Given the description of an element on the screen output the (x, y) to click on. 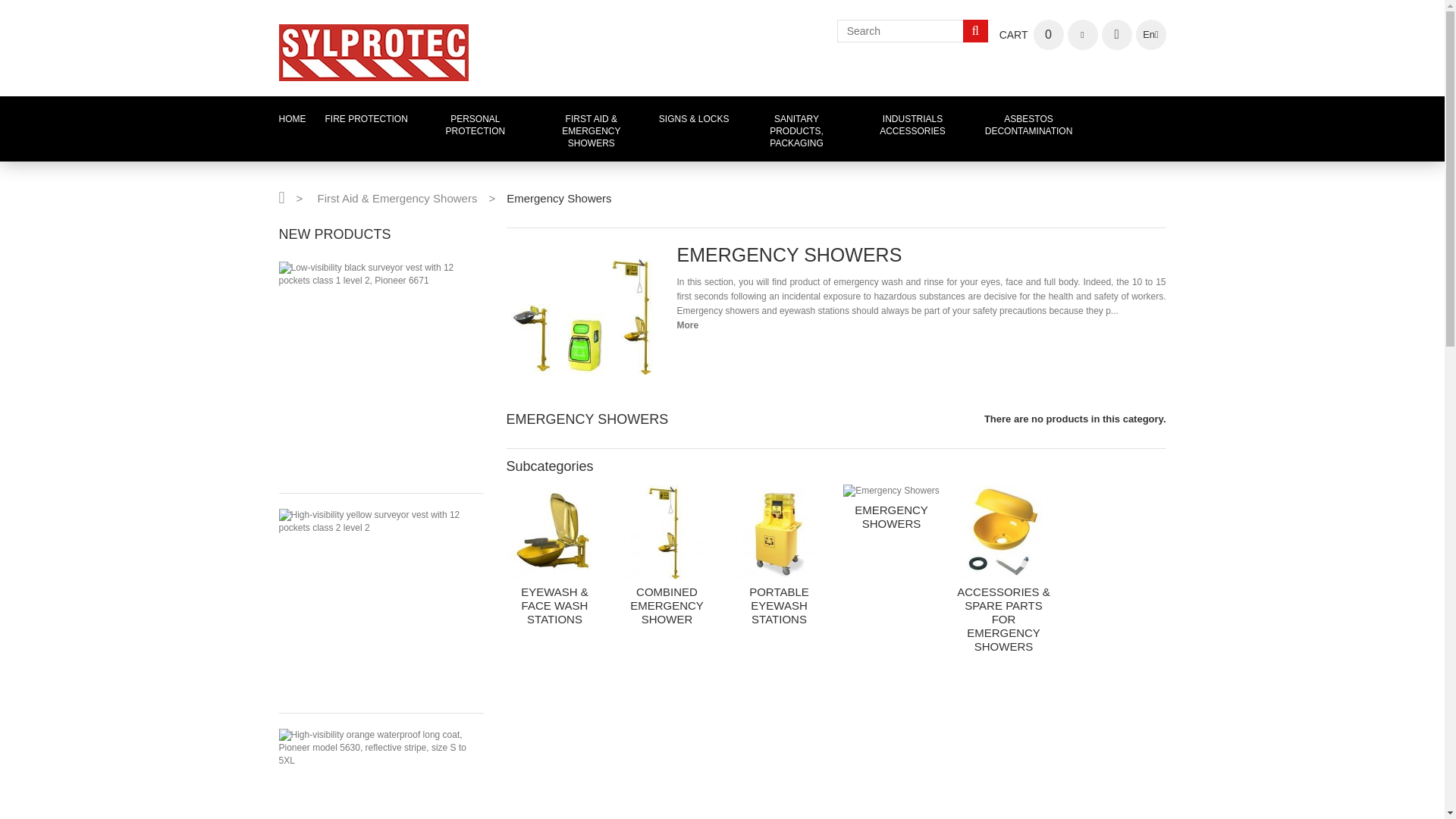
PERSONAL PROTECTION (475, 125)
Sign in (1115, 34)
Portable Eyewash Stations (779, 531)
SANITARY PRODUCTS, PACKAGING (796, 131)
INDUSTRIALS ACCESSORIES (912, 125)
View my shopping cart (1031, 34)
ASBESTOS DECONTAMINATION (1028, 125)
Emergency Showers (891, 490)
Portable Eyewash Stations (779, 605)
More (687, 325)
